Given the description of an element on the screen output the (x, y) to click on. 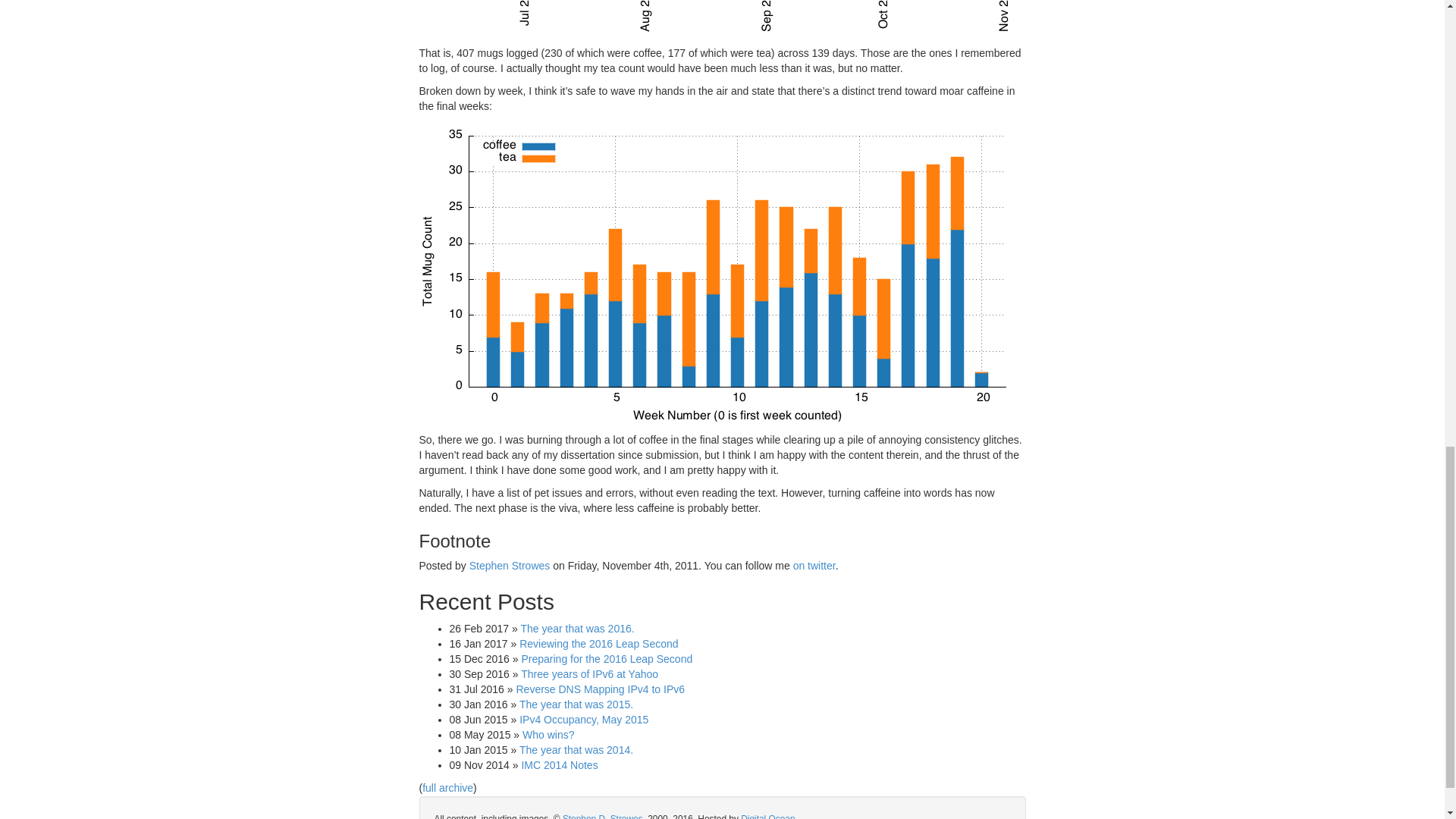
full archive (447, 787)
Stephen Strowes (509, 565)
IMC 2014 Notes (558, 765)
IPv4 Occupancy, May 2015 (583, 719)
The year that was 2015. (576, 704)
Reviewing the 2016 Leap Second (598, 644)
The year that was 2016. (576, 628)
Reverse DNS Mapping IPv4 to IPv6 (599, 689)
on twitter (814, 565)
Preparing for the 2016 Leap Second (607, 658)
Who wins? (547, 734)
Three years of IPv6 at Yahoo (589, 674)
The year that was 2014. (576, 749)
